Given the description of an element on the screen output the (x, y) to click on. 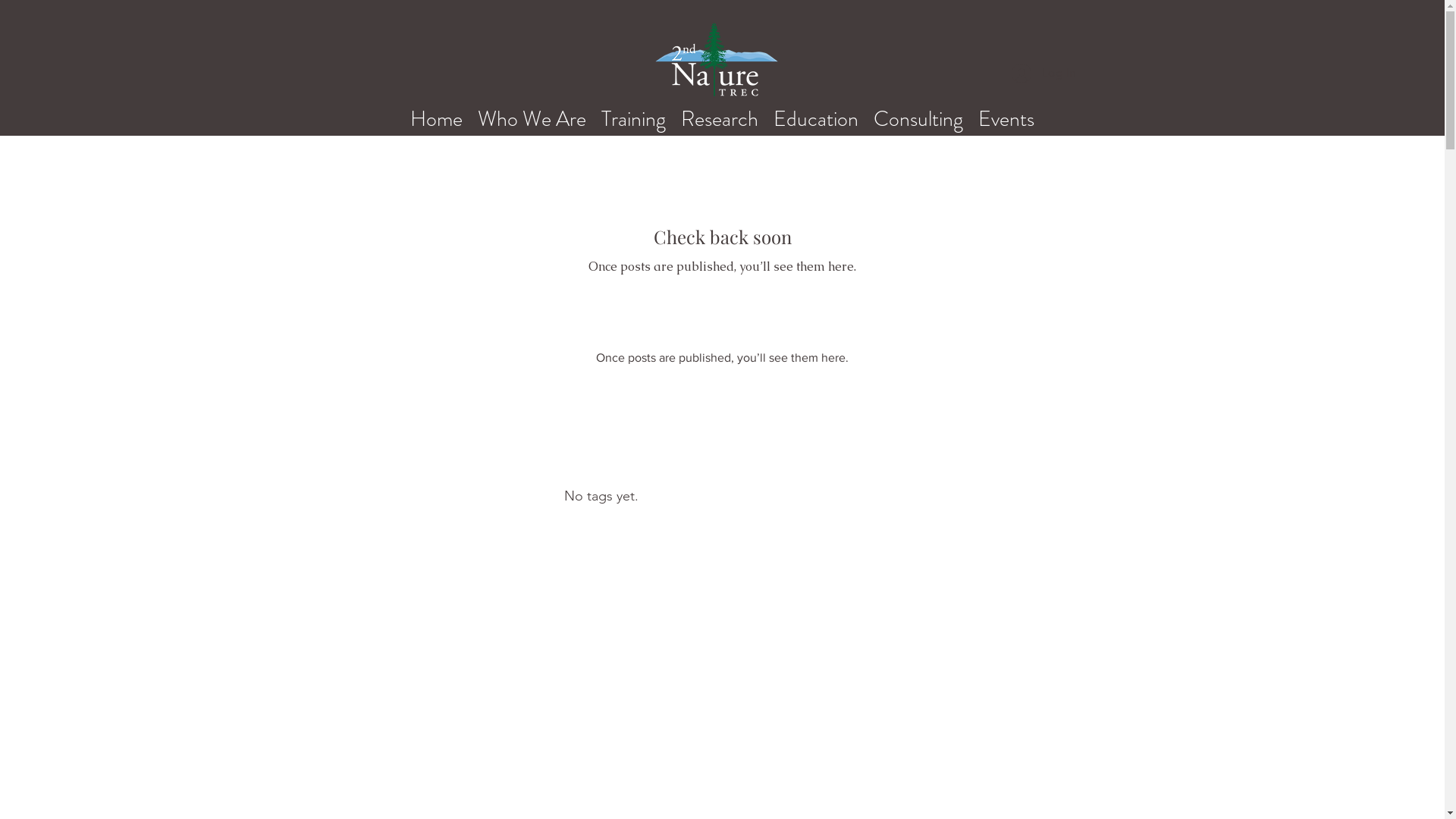
Home Element type: text (436, 118)
Who We Are Element type: text (531, 118)
Research Element type: text (719, 118)
Consulting Element type: text (918, 118)
Log In Element type: text (1043, 73)
Education Element type: text (815, 118)
Events Element type: text (1005, 118)
Training Element type: text (633, 118)
